Given the description of an element on the screen output the (x, y) to click on. 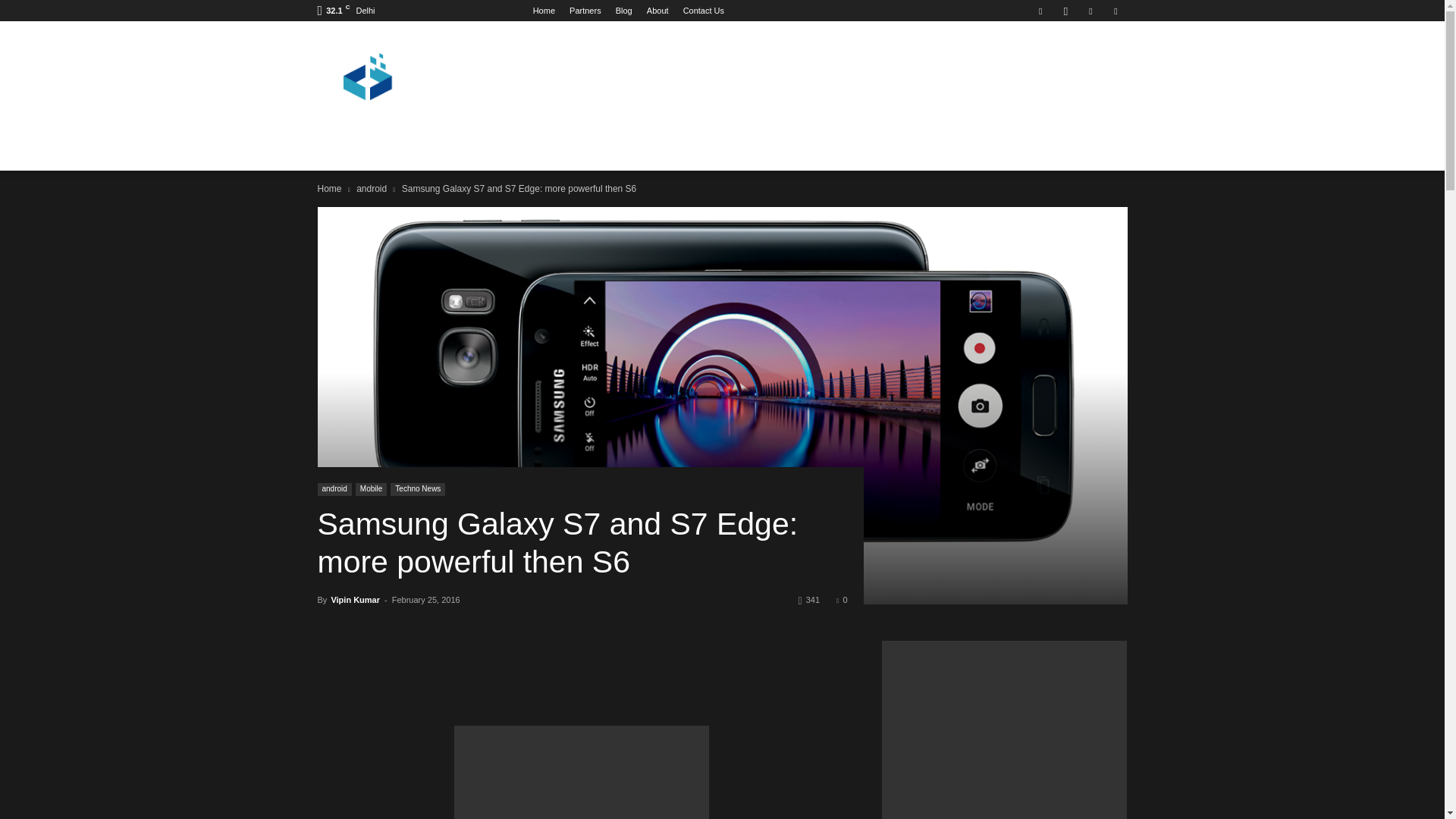
HOME (343, 143)
Partners (585, 10)
Home (543, 10)
View all posts in android (371, 188)
PARTNERS (408, 143)
Contact Us (702, 10)
Youtube (1114, 10)
Blog (623, 10)
About (657, 10)
Facebook (1040, 10)
